Given the description of an element on the screen output the (x, y) to click on. 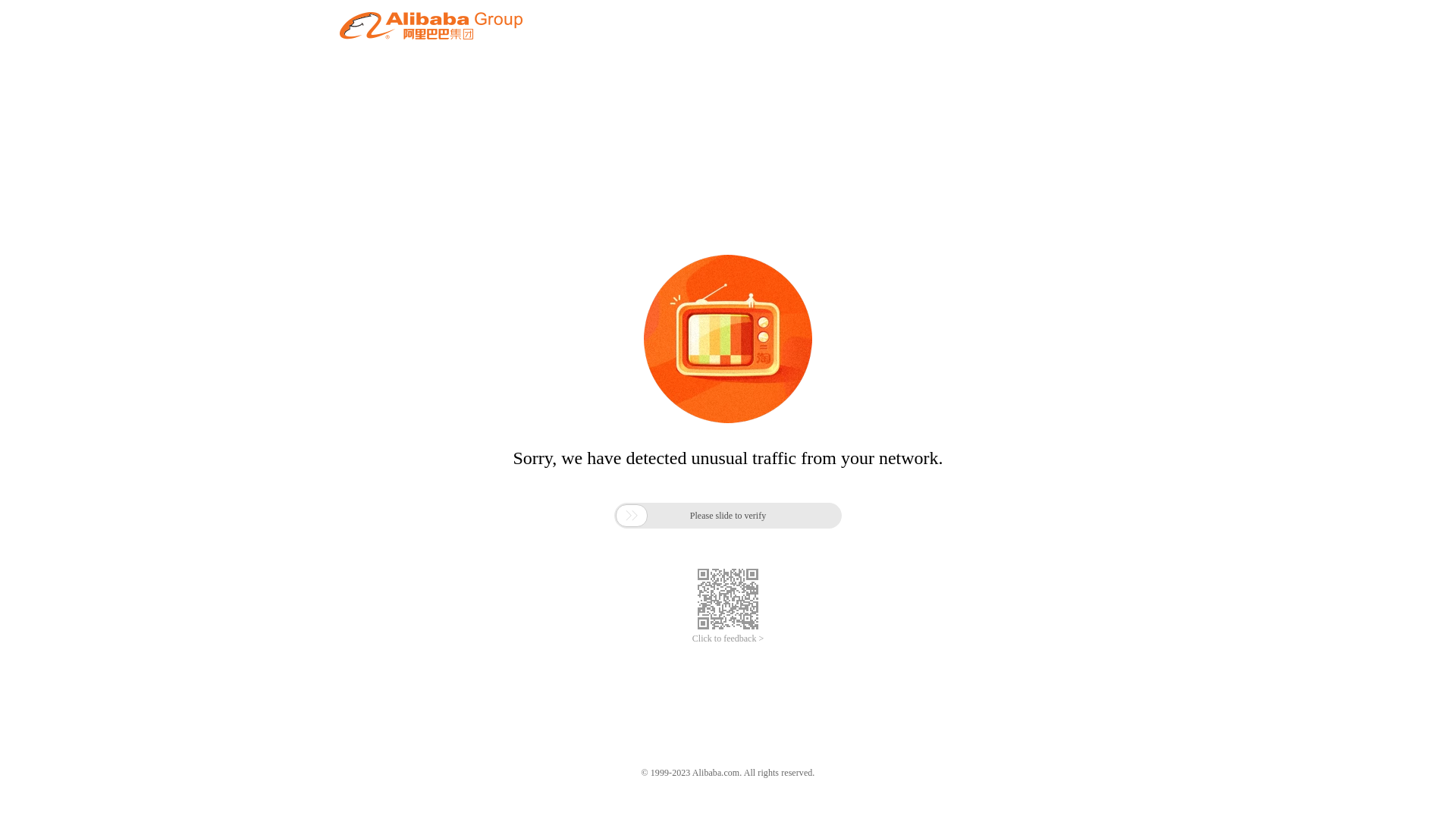
Click to feedback > Element type: text (727, 638)
